Given the description of an element on the screen output the (x, y) to click on. 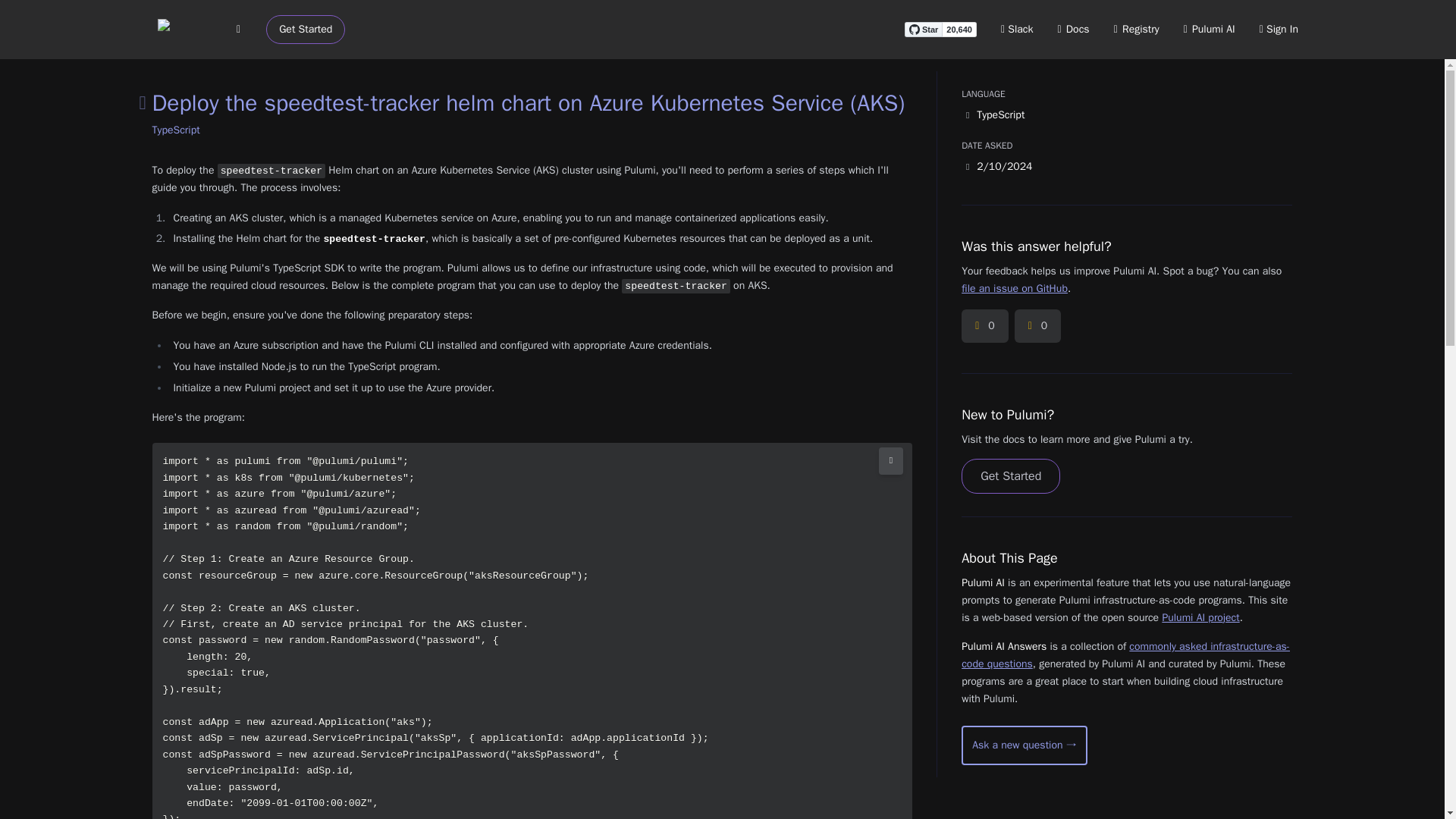
Get Started (305, 29)
 Star (923, 29)
Upvote this answer (984, 326)
0 (984, 326)
Registry (1135, 29)
Slack (1017, 29)
20,640 (959, 29)
Pulumi AI (1208, 29)
Start a new conversation with Pulumi AI (1023, 744)
0 (1037, 326)
Downvote this answer (1037, 326)
file an issue on GitHub (1013, 287)
Docs (1073, 29)
Sign In (1278, 29)
Get Started (1009, 475)
